Given the description of an element on the screen output the (x, y) to click on. 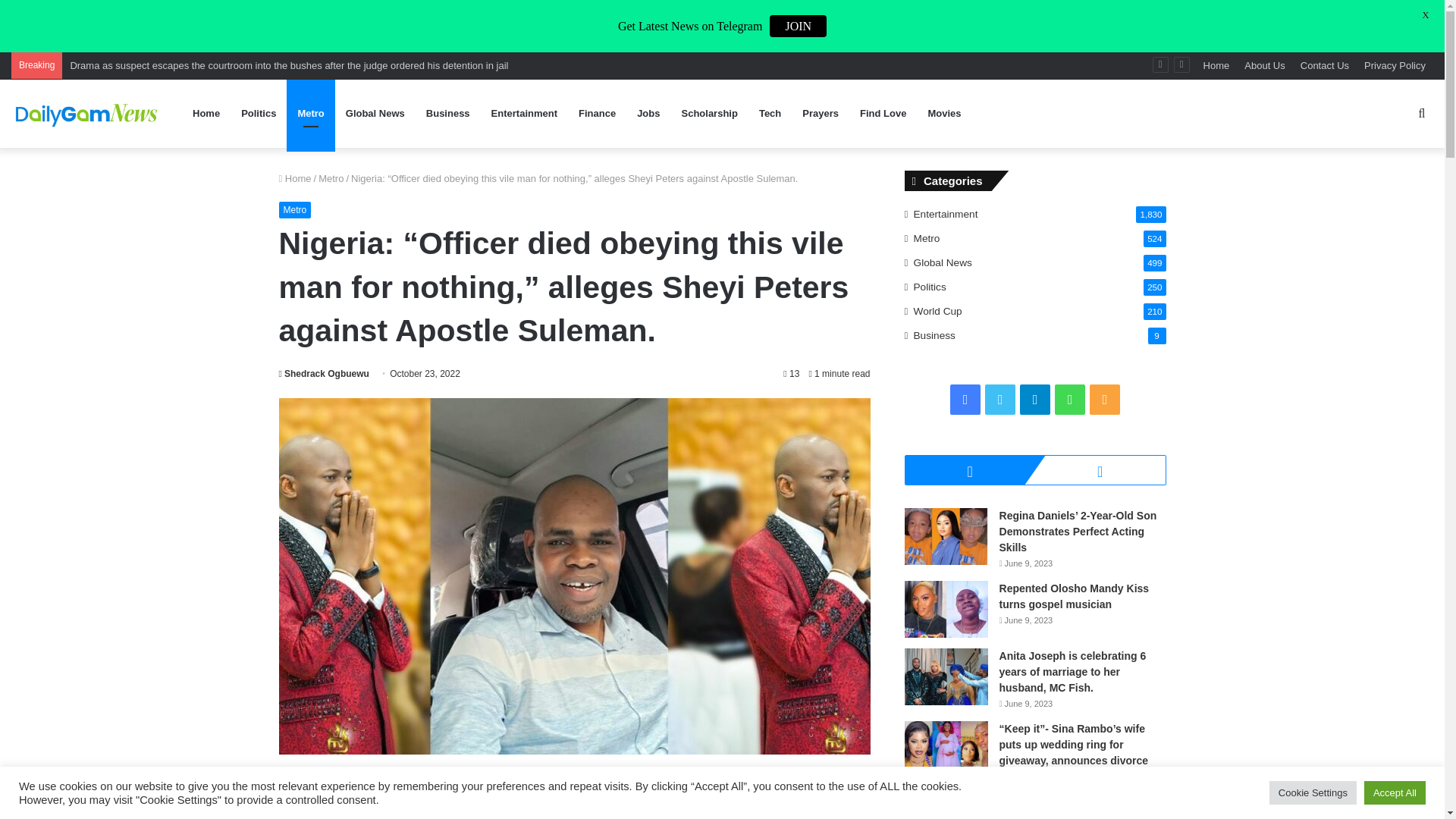
Scholarship (708, 113)
Find Love (882, 113)
About Us (1264, 65)
Shedrack Ogbuewu (324, 373)
Contact Us (1324, 65)
Privacy Policy (1394, 65)
Home (295, 178)
Global News (374, 113)
DailyGam News (87, 113)
Business (447, 113)
Home (1216, 65)
Take Action Now! (293, 14)
Metro (330, 178)
Metro (295, 209)
Shedrack Ogbuewu (324, 373)
